Given the description of an element on the screen output the (x, y) to click on. 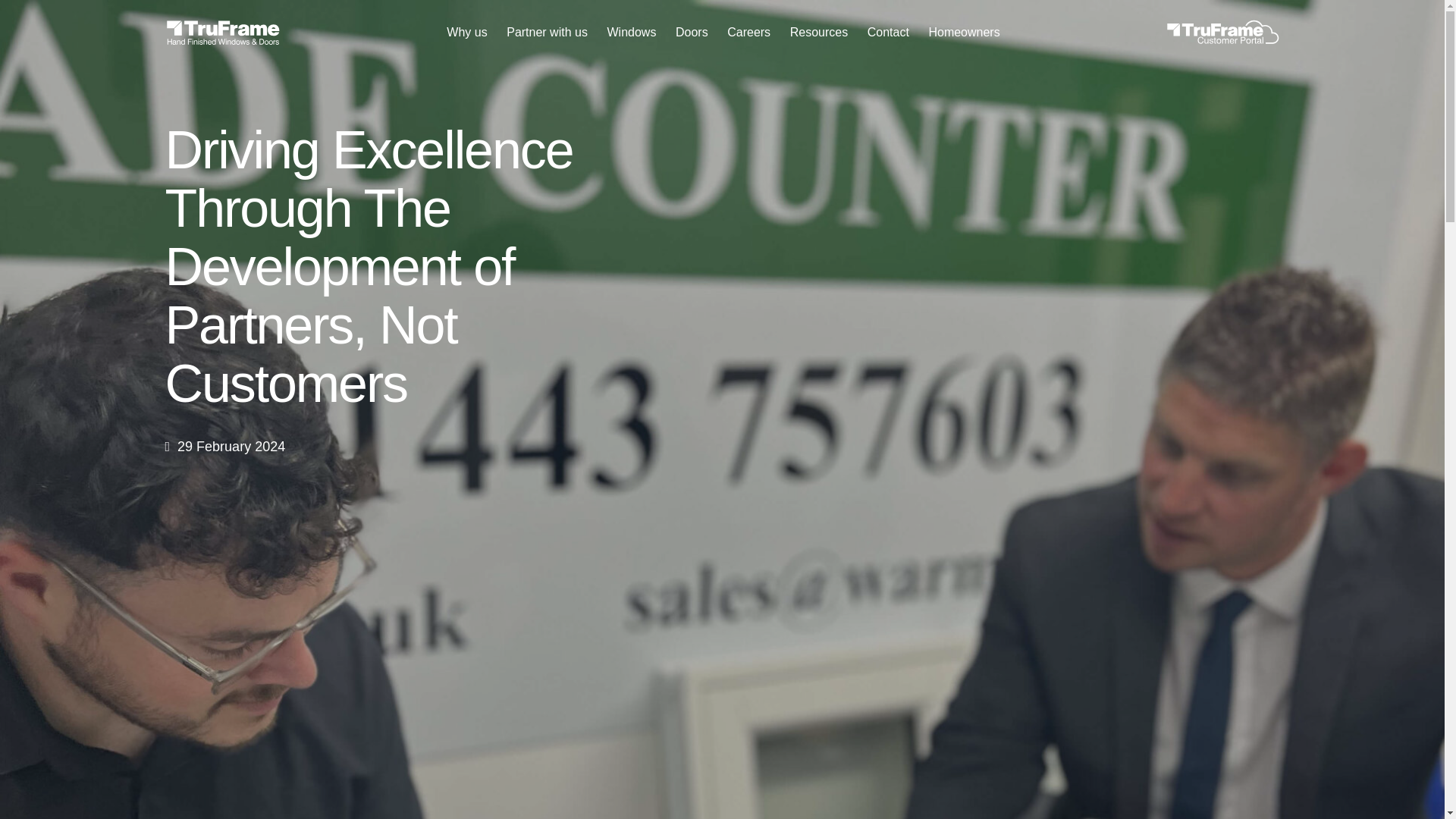
Resources (819, 31)
Careers (748, 31)
Contact (888, 31)
Why us (467, 31)
Windows (630, 31)
Doors (692, 31)
Partner with us (547, 31)
Homeowners (963, 31)
